Given the description of an element on the screen output the (x, y) to click on. 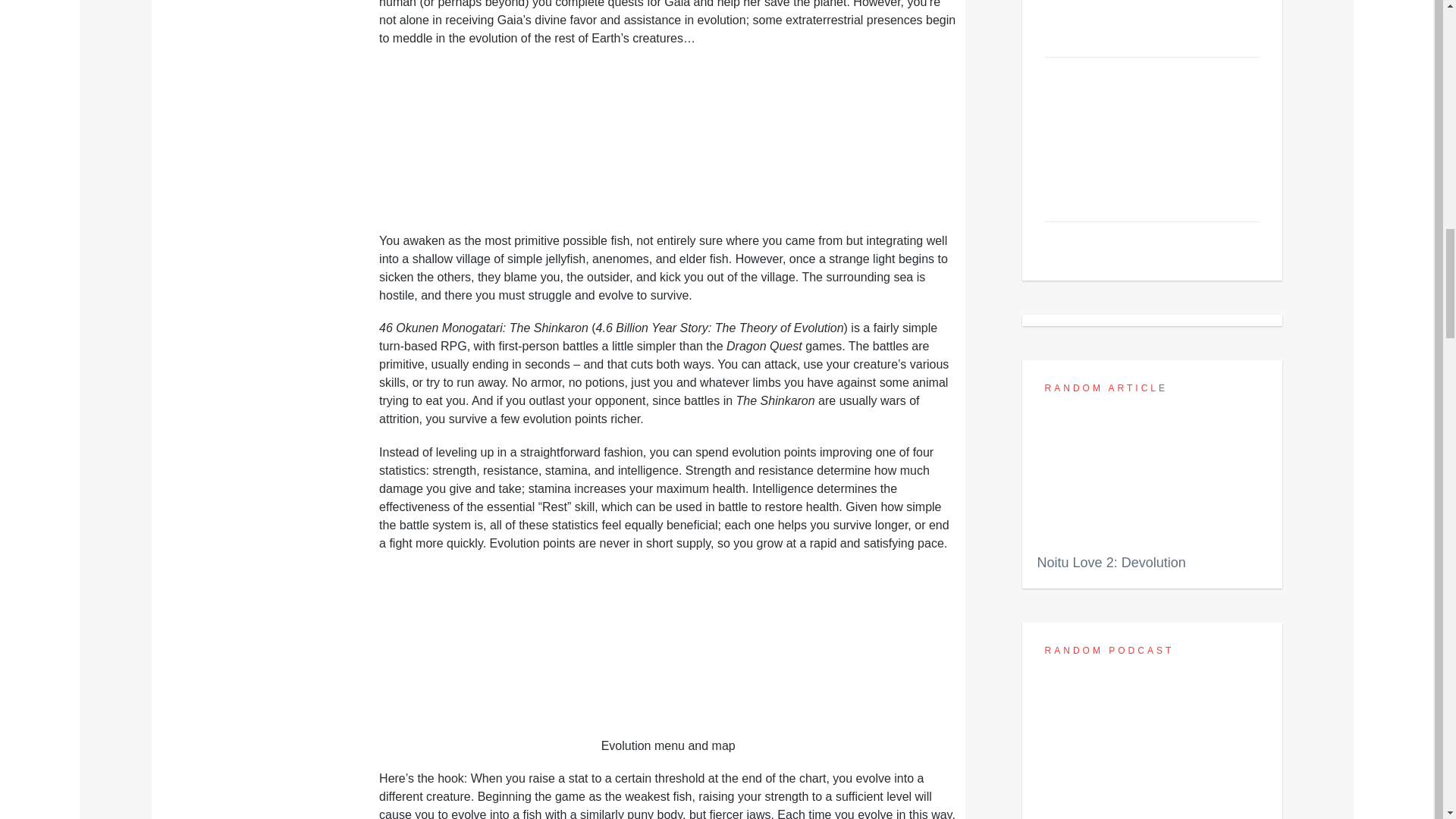
Noitu Love 2: Devolution (1152, 502)
